Given the description of an element on the screen output the (x, y) to click on. 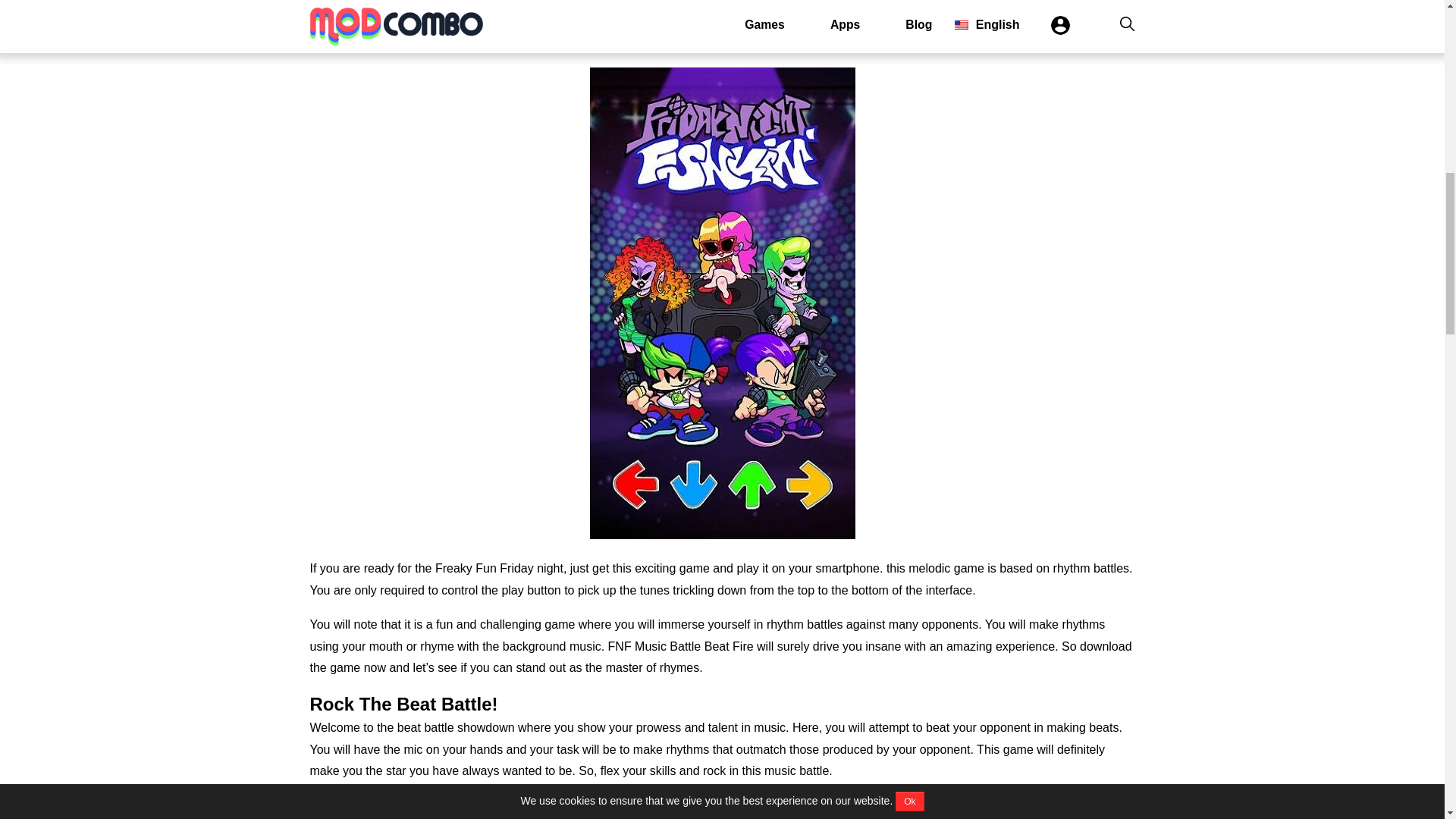
fnf music battle beat fire mod apk unlimited money (722, 806)
